Given the description of an element on the screen output the (x, y) to click on. 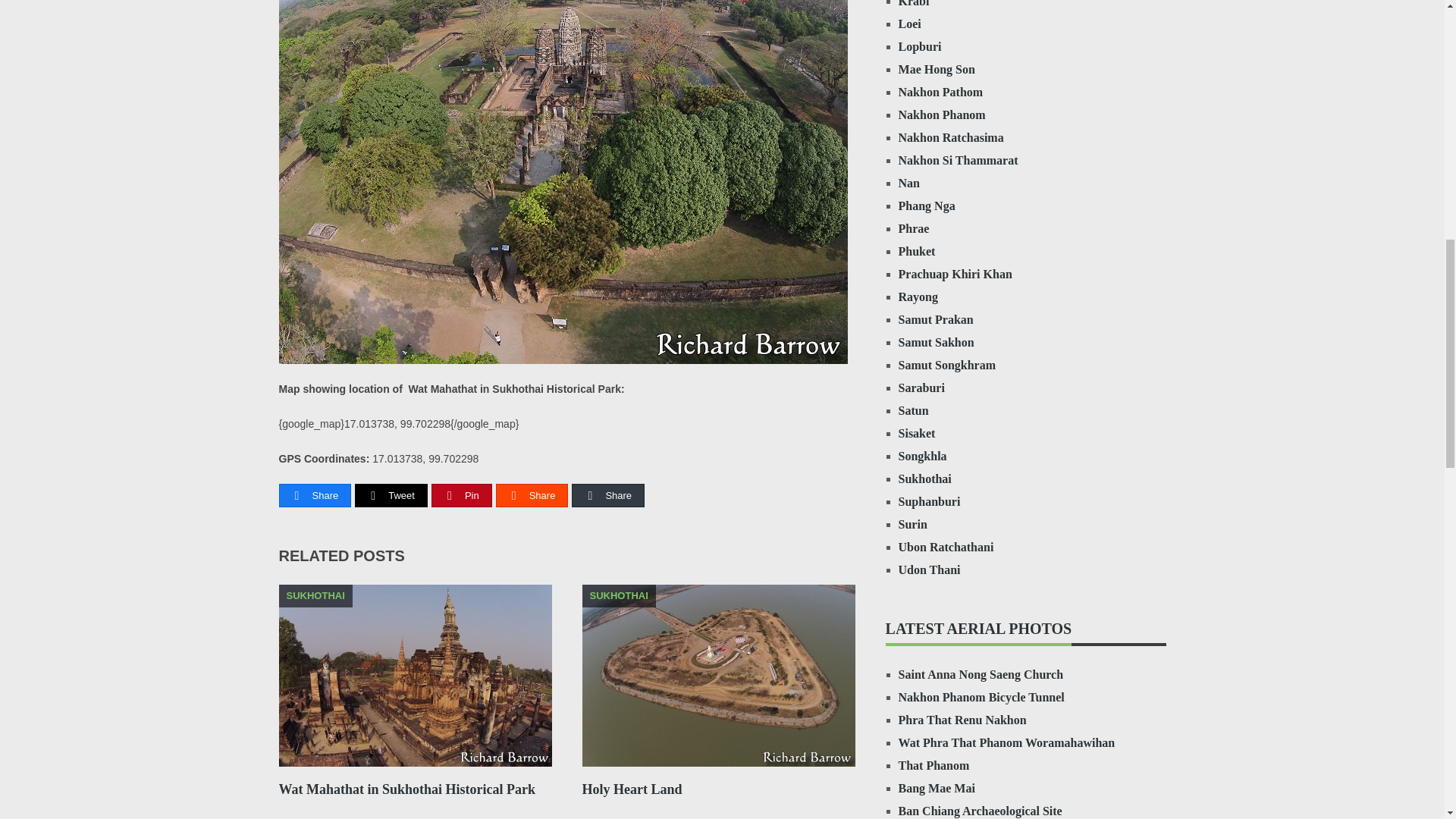
Holy Heart Land (632, 789)
Wat Mahathat in Sukhothai Historical Park (407, 789)
Tweet (390, 495)
Wat Mahathat in Sukhothai Historical Park (415, 678)
Share (314, 495)
Holy Heart Land (632, 789)
Wat Mahathat in Sukhothai Historical Park (407, 789)
Holy Heart Land (719, 678)
Pin (462, 495)
SUKHOTHAI (719, 678)
Share (607, 495)
Share (531, 495)
SUKHOTHAI (415, 678)
